Given the description of an element on the screen output the (x, y) to click on. 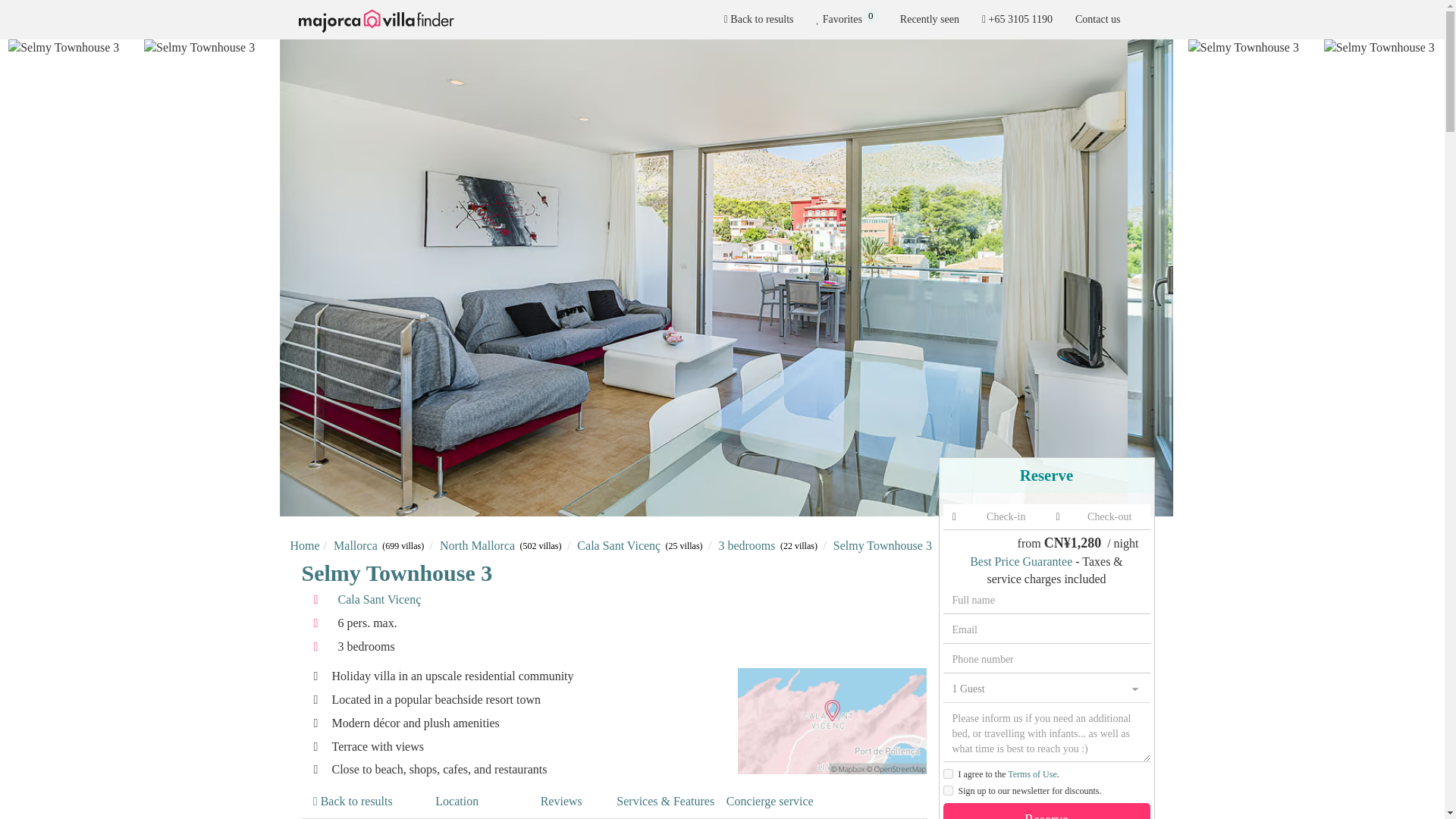
Concierge service (770, 801)
Reviews (560, 801)
Recently seen (929, 19)
1 (948, 773)
Location (457, 801)
1 (948, 790)
Contact us (1098, 19)
Back to results (846, 19)
Contact us (759, 19)
